Given the description of an element on the screen output the (x, y) to click on. 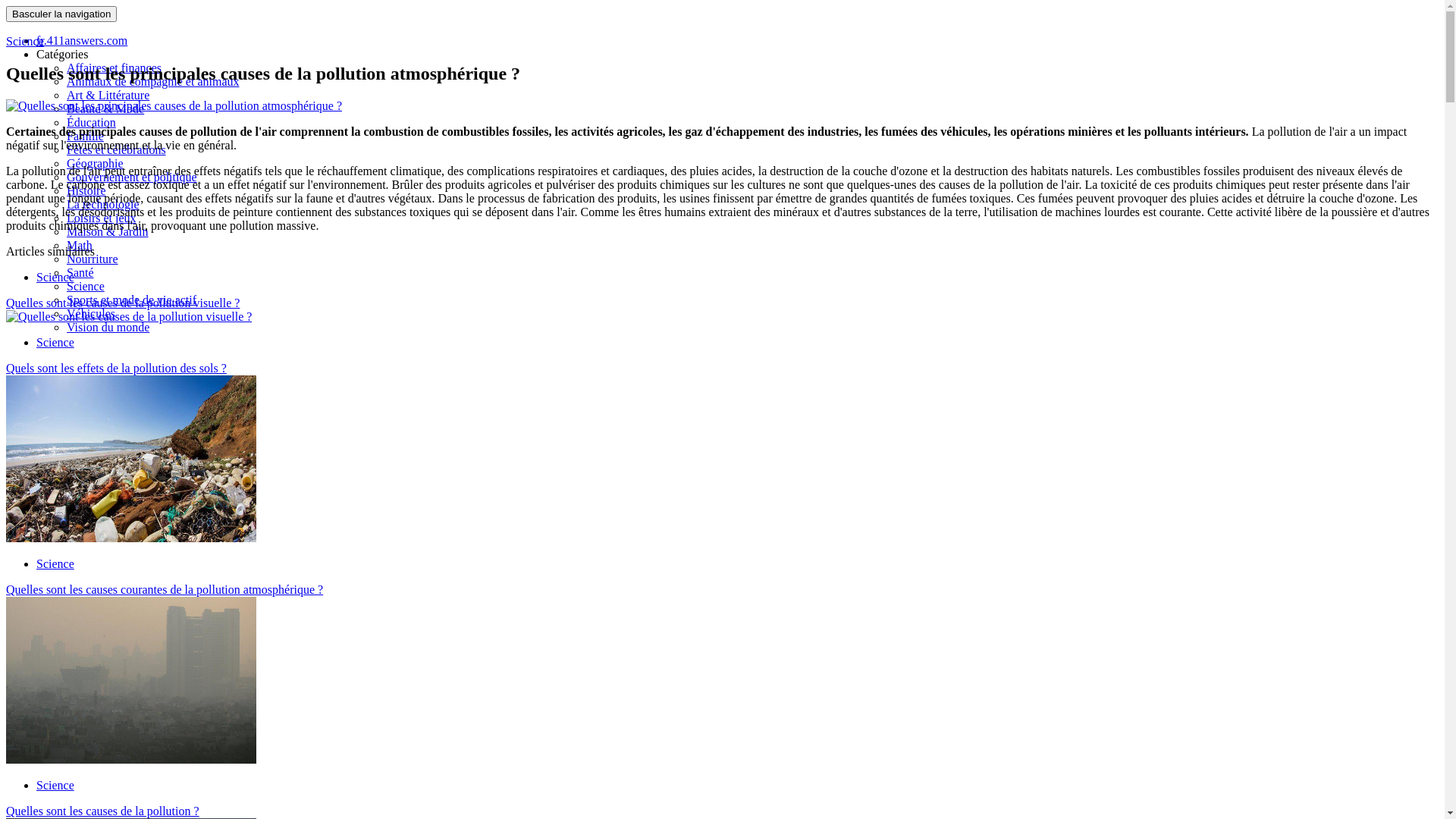
Science Element type: text (55, 341)
Histoire Element type: text (86, 190)
Quelles sont les causes de la pollution ? Element type: text (102, 810)
Science Element type: text (85, 285)
Science Element type: text (24, 40)
Science Element type: text (55, 276)
Animaux de compagnie et animaux Element type: text (152, 81)
Gouvernement et politique Element type: text (131, 176)
Math Element type: text (79, 244)
Basculer la navigation Element type: text (61, 13)
Affaires et finances Element type: text (113, 67)
Quelles sont les causes de la pollution visuelle ? Element type: text (122, 302)
Quels sont les effets de la pollution des sols ? Element type: text (116, 367)
Vision du monde Element type: text (107, 326)
fr.411answers.com Element type: text (81, 40)
Science Element type: text (55, 563)
Science Element type: text (55, 784)
Maison & Jardin Element type: text (107, 231)
Nourriture Element type: text (92, 258)
Loisirs et jeux Element type: text (101, 217)
Famille Element type: text (84, 135)
Sports et mode de vie actif Element type: text (131, 299)
La technologie Element type: text (102, 203)
